Given the description of an element on the screen output the (x, y) to click on. 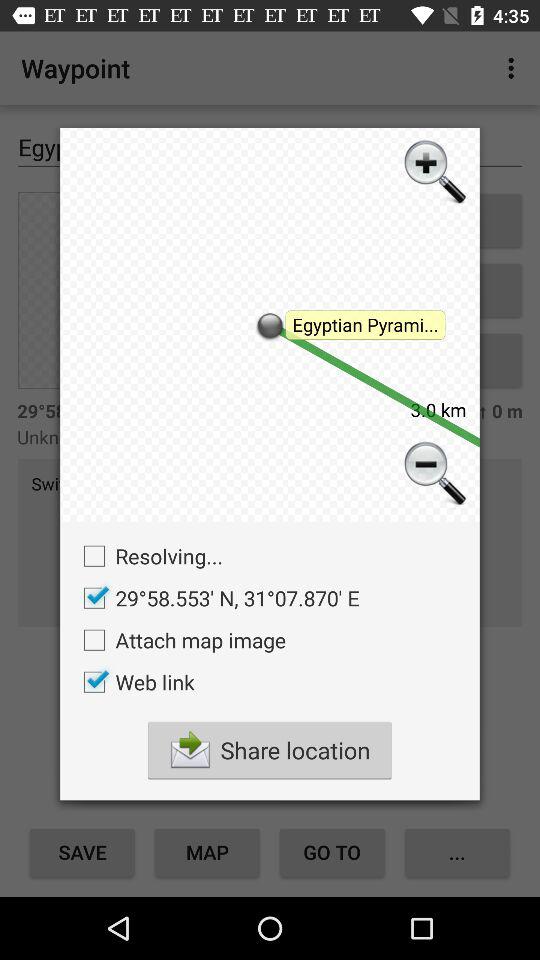
scroll until the share location (269, 750)
